Given the description of an element on the screen output the (x, y) to click on. 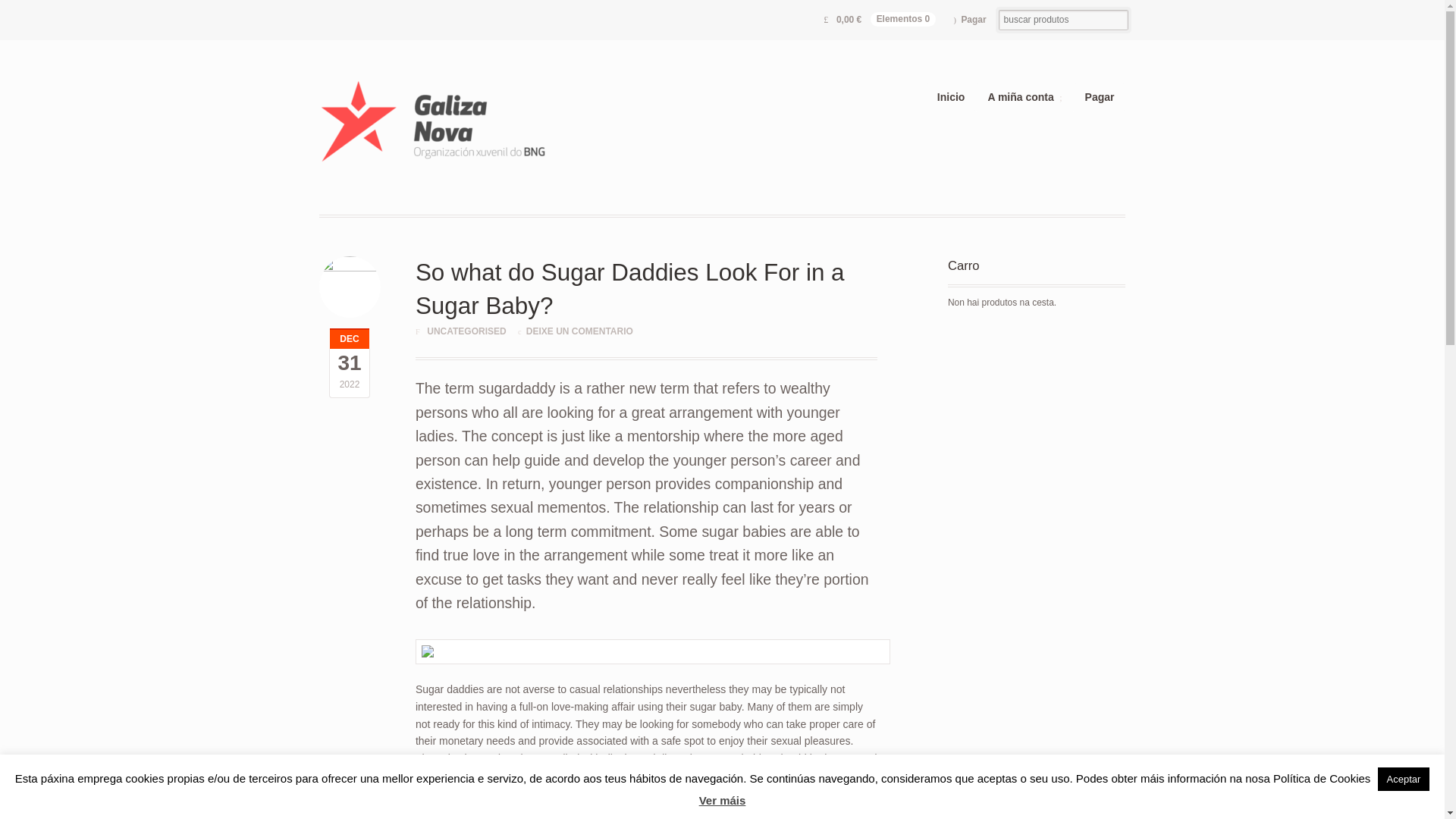
Aceptar (1403, 779)
DEIXE UN COMENTARIO (579, 330)
Pagar (969, 20)
Inicio (951, 97)
Pagar (1099, 97)
Busca (65, 10)
UNCATEGORISED (465, 330)
